Given the description of an element on the screen output the (x, y) to click on. 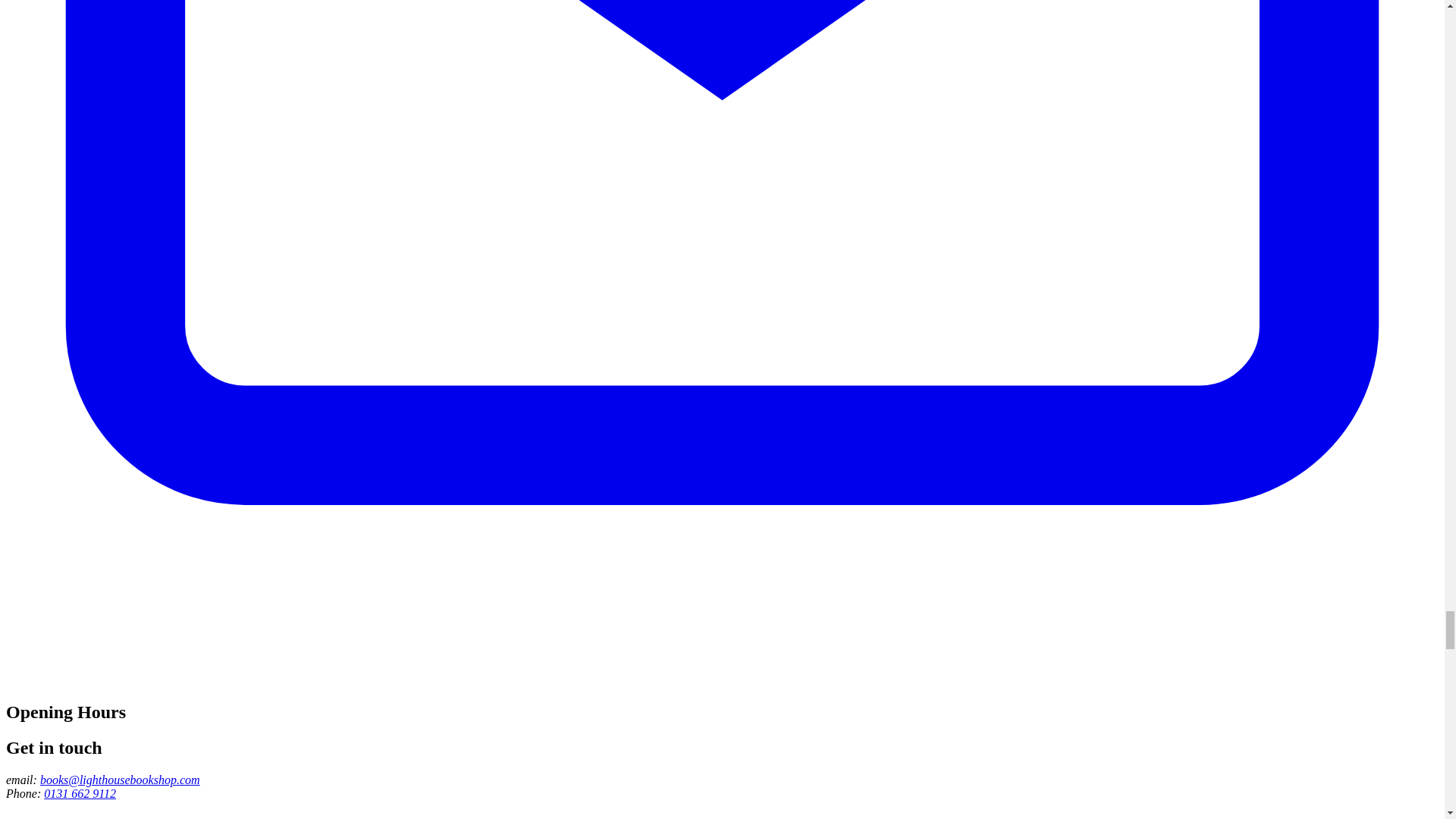
0131 662 9112 (79, 793)
